Given the description of an element on the screen output the (x, y) to click on. 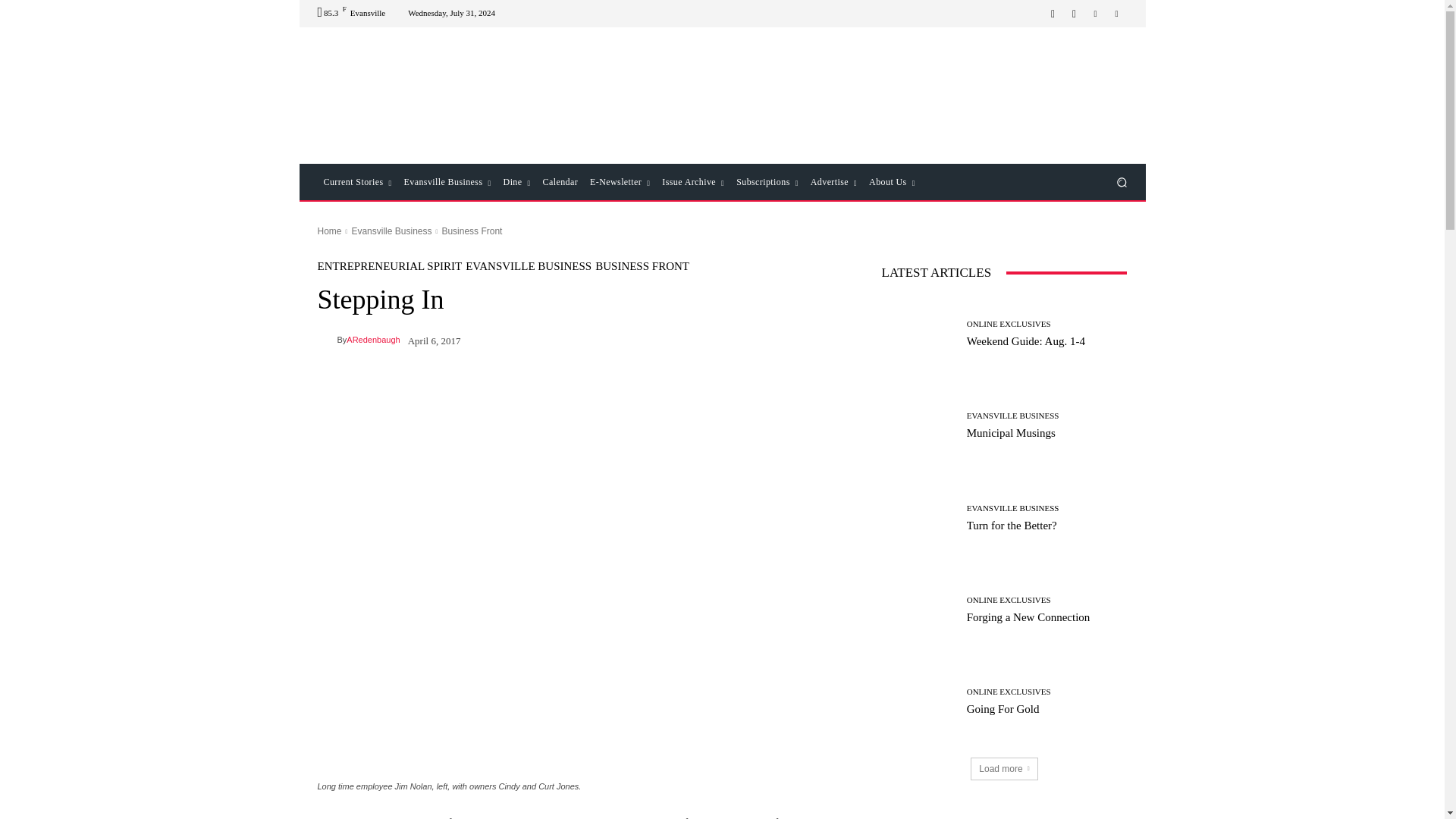
ARedenbaugh (326, 339)
View all posts in Business Front (471, 231)
Instagram (1073, 13)
Twitter (1115, 13)
View all posts in Evansville Business (390, 231)
Facebook (1052, 13)
Linkedin (1094, 13)
